Given the description of an element on the screen output the (x, y) to click on. 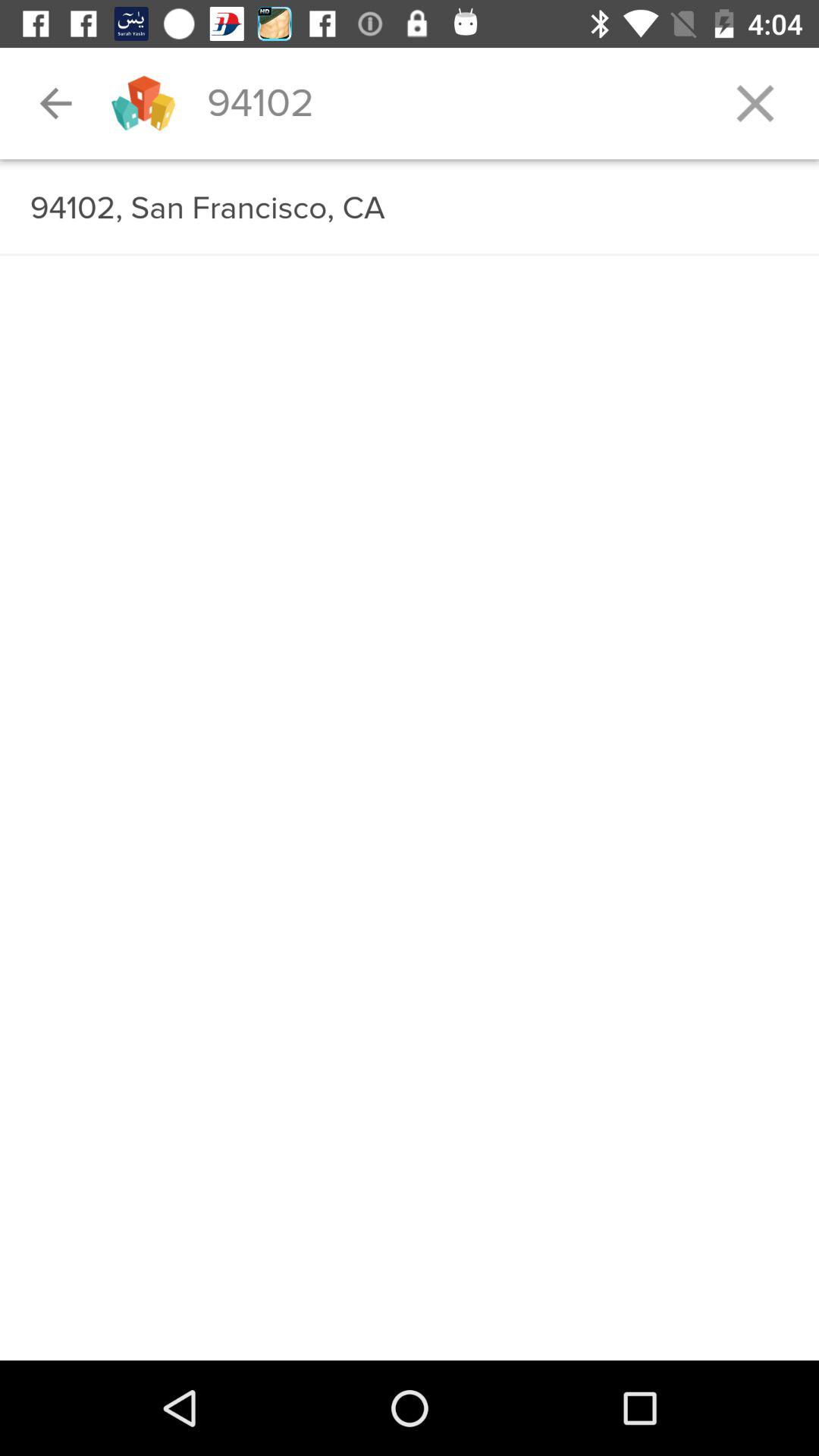
scroll until 94102 san francisco item (409, 208)
